Given the description of an element on the screen output the (x, y) to click on. 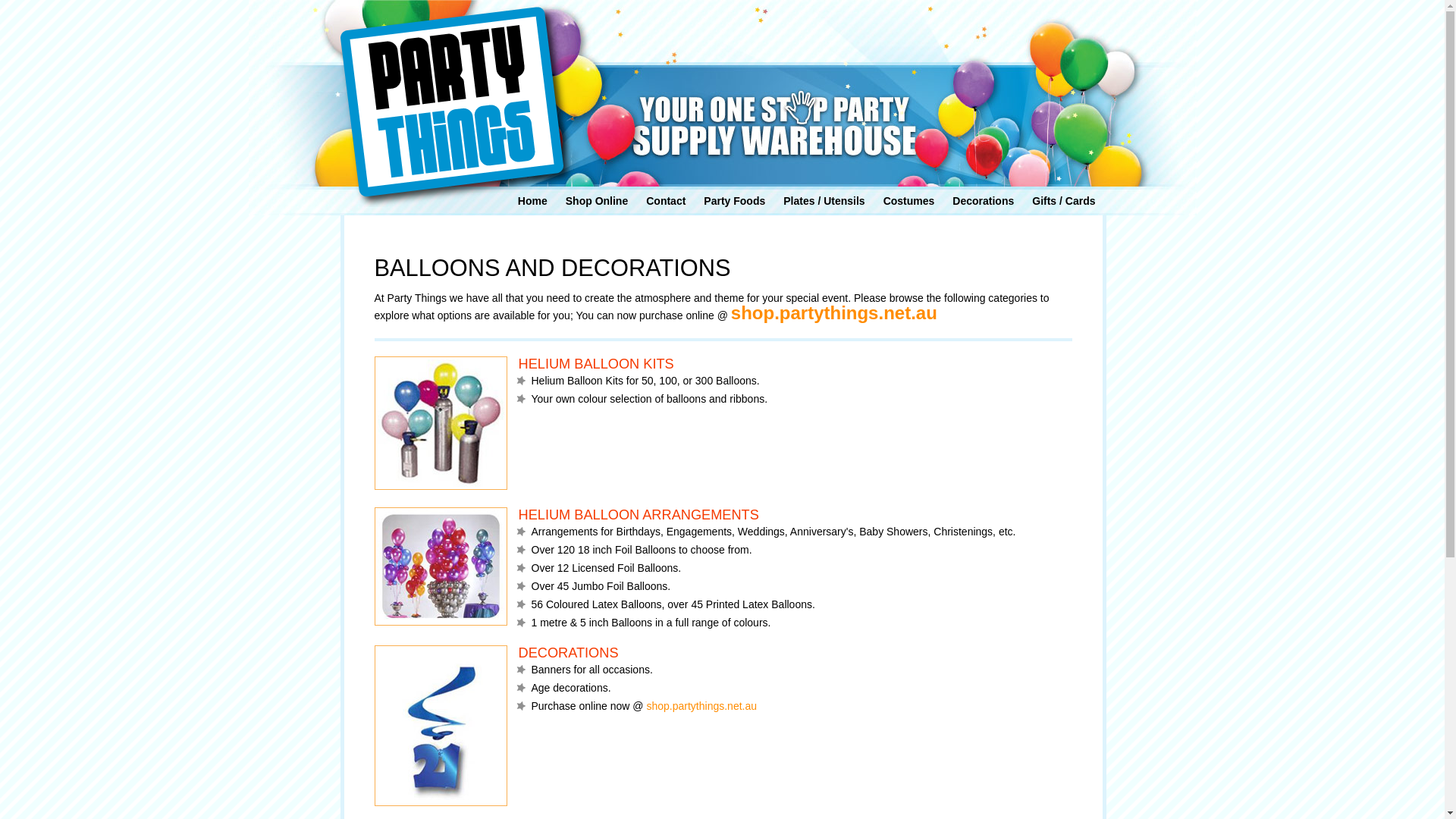
Costumes Element type: text (909, 200)
Shop Online Element type: text (596, 200)
helium kits Element type: hover (440, 422)
shop.partythings.net.au Element type: text (834, 311)
Plates / Utensils Element type: text (823, 200)
Home Element type: text (532, 200)
HELIUM BALLOON ARRANGEMENTS Element type: text (785, 514)
shop.partythings.net.au Element type: text (701, 705)
Party Foods Element type: text (734, 200)
Decorations Element type: text (982, 200)
HELIUM BALLOON KITS Element type: text (785, 363)
DECORATIONS Element type: text (785, 652)
helium arrangements Element type: hover (440, 566)
Contact Element type: text (665, 200)
Gifts / Cards Element type: text (1063, 200)
decorations Element type: hover (440, 725)
